Given the description of an element on the screen output the (x, y) to click on. 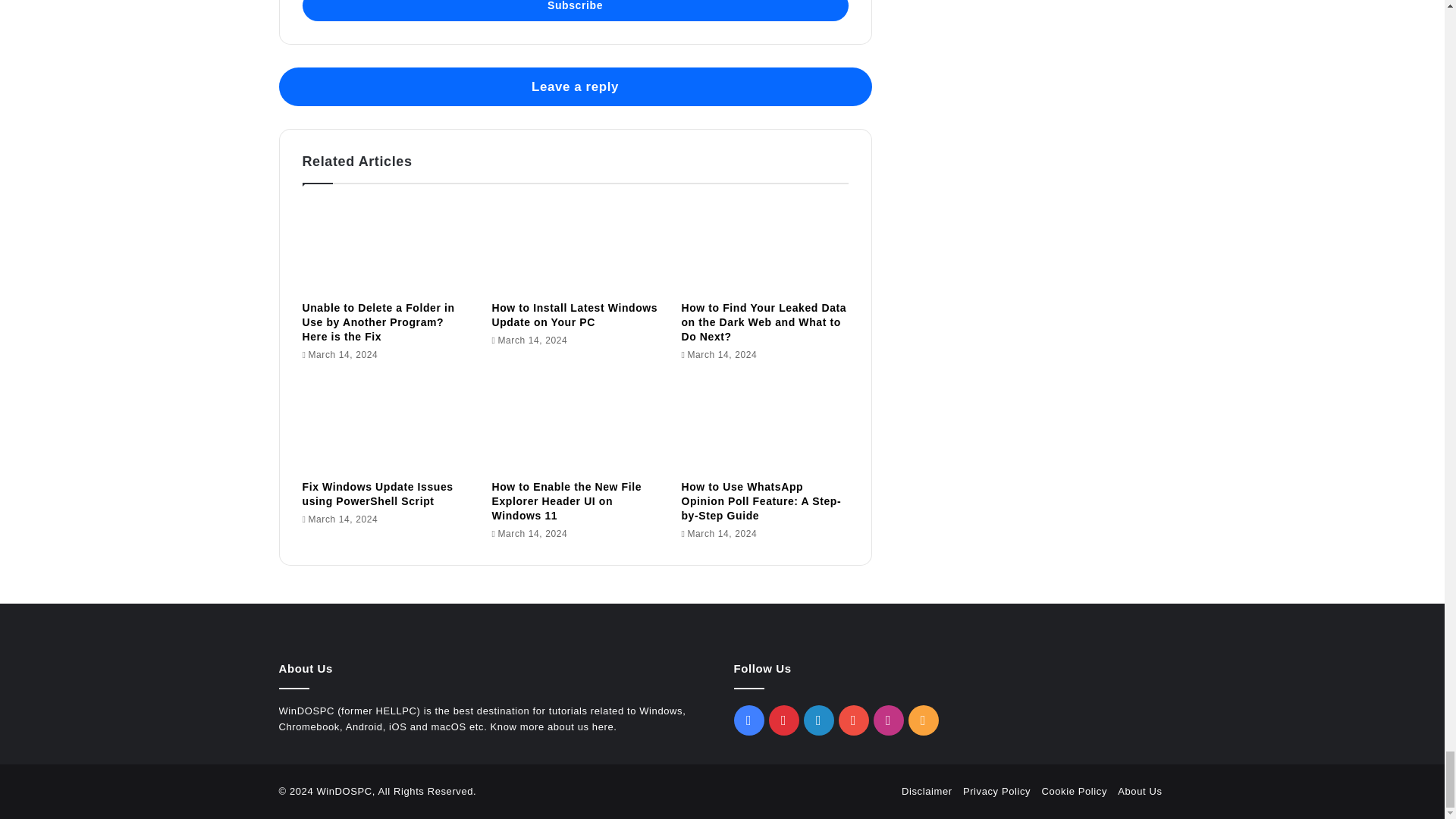
Subscribe (574, 10)
